Given the description of an element on the screen output the (x, y) to click on. 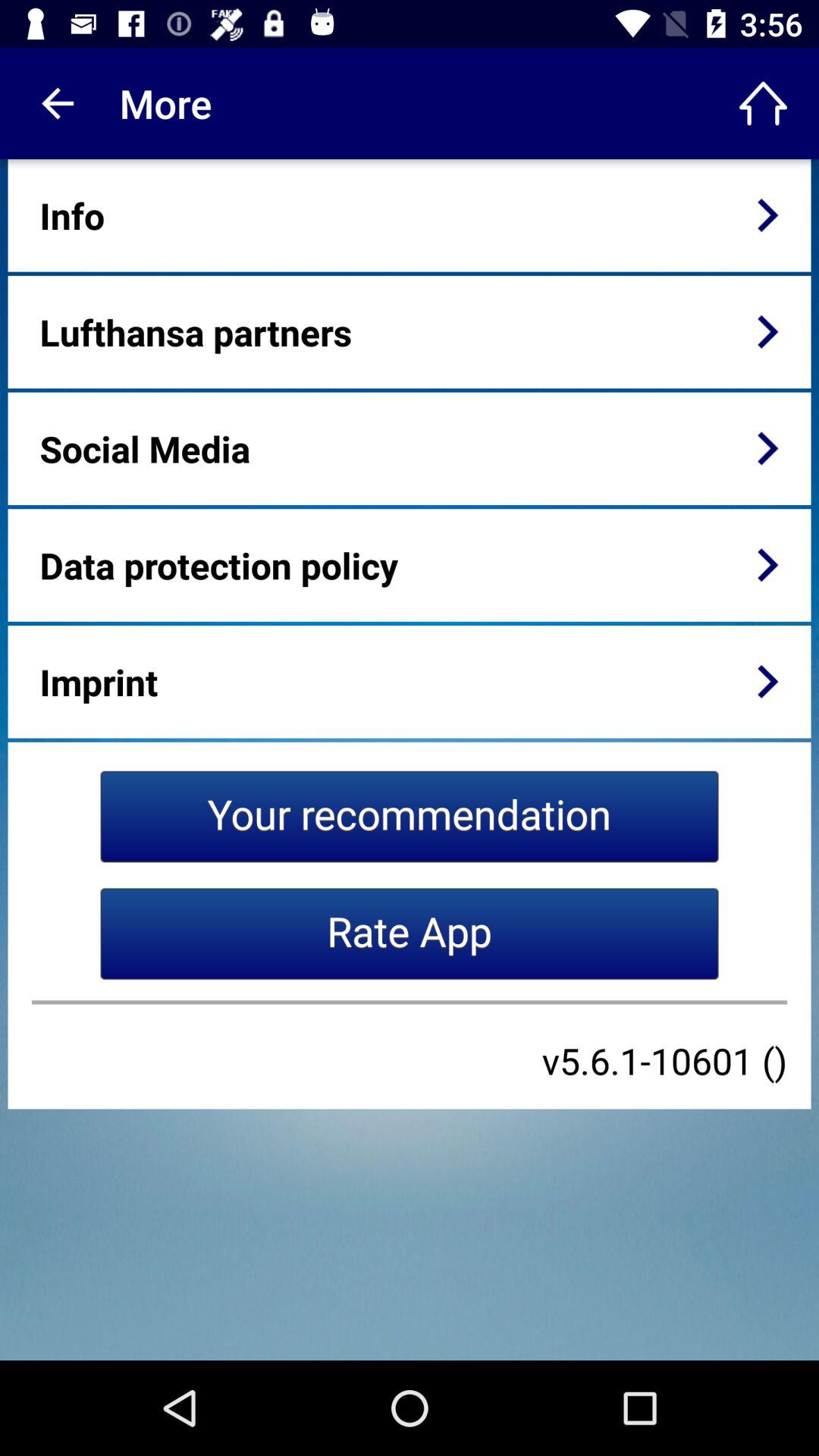
swipe until the imprint icon (98, 681)
